Given the description of an element on the screen output the (x, y) to click on. 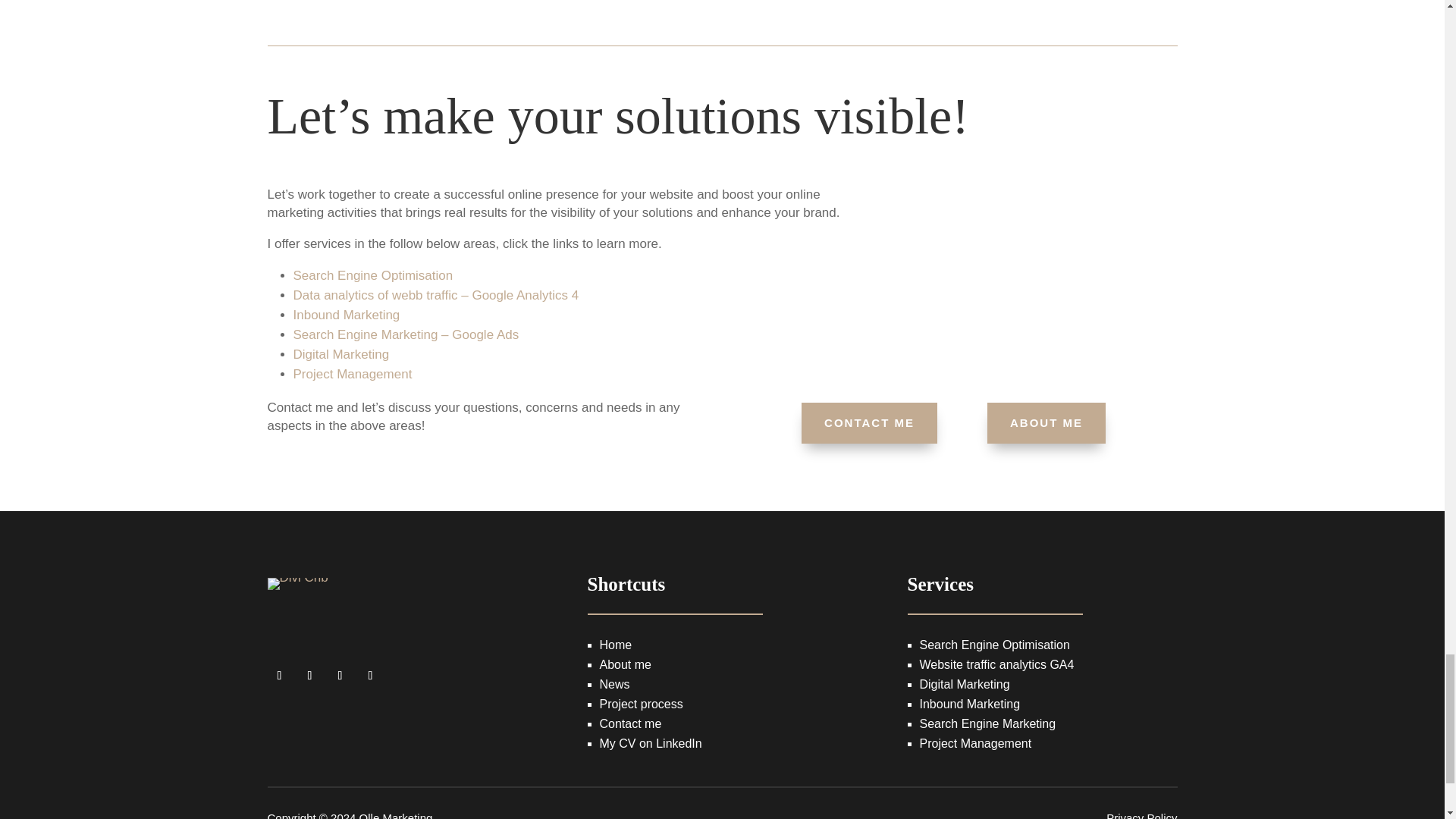
Original on Transparent (296, 600)
Follow on LinkedIn (369, 675)
Follow on X (339, 675)
Follow on Facebook (278, 675)
Follow on Instagram (309, 675)
